Given the description of an element on the screen output the (x, y) to click on. 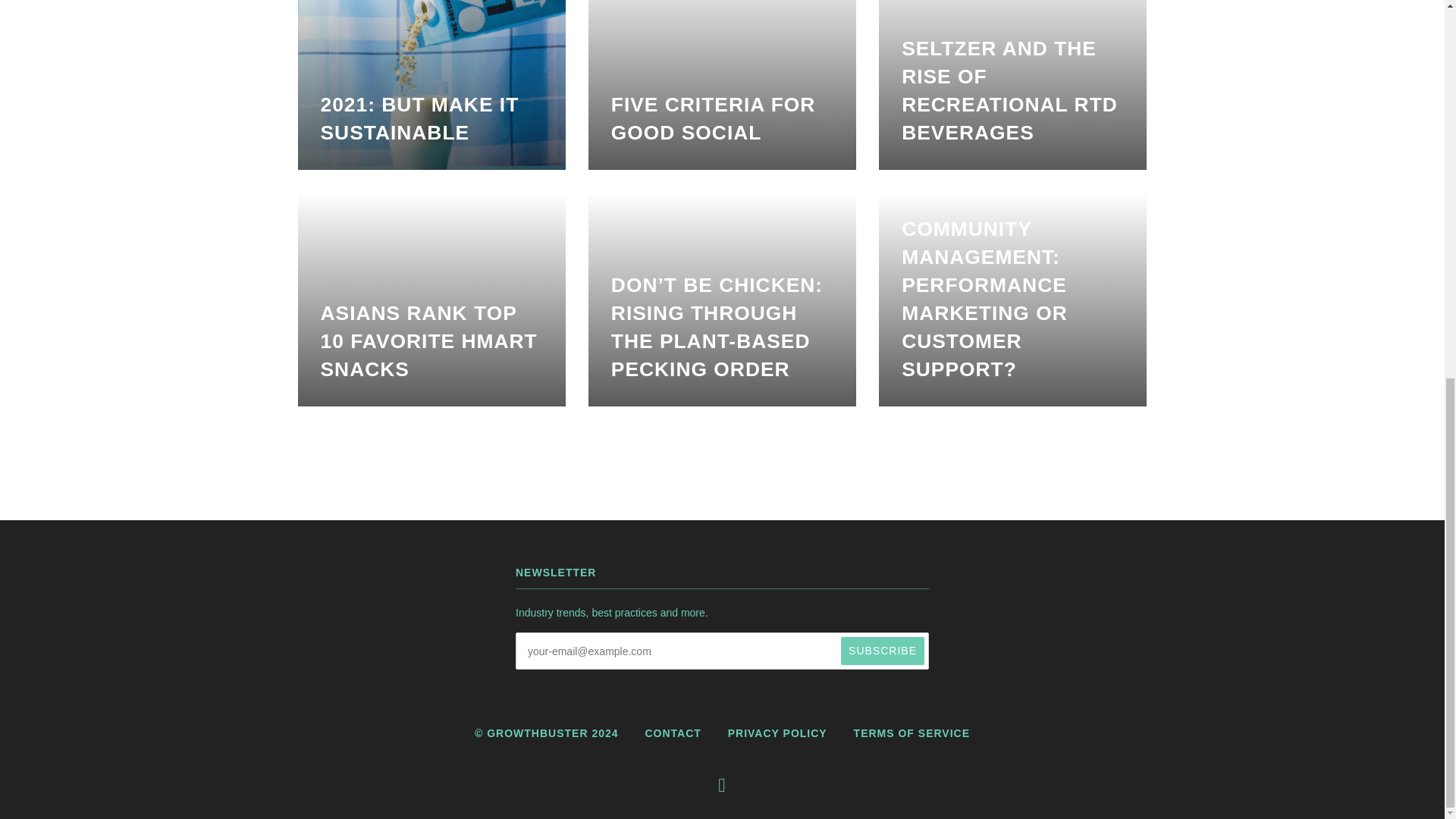
SELTZER AND THE RISE OF RECREATIONAL RTD BEVERAGES (1013, 84)
ASIANS RANK TOP 10 FAVORITE HMART SNACKS (430, 299)
CONTACT (672, 733)
FIVE CRITERIA FOR GOOD SOCIAL (722, 84)
PRIVACY POLICY (777, 733)
2021: BUT MAKE IT SUSTAINABLE (430, 84)
TERMS OF SERVICE (911, 733)
Subscribe (882, 651)
Subscribe (882, 651)
